Given the description of an element on the screen output the (x, y) to click on. 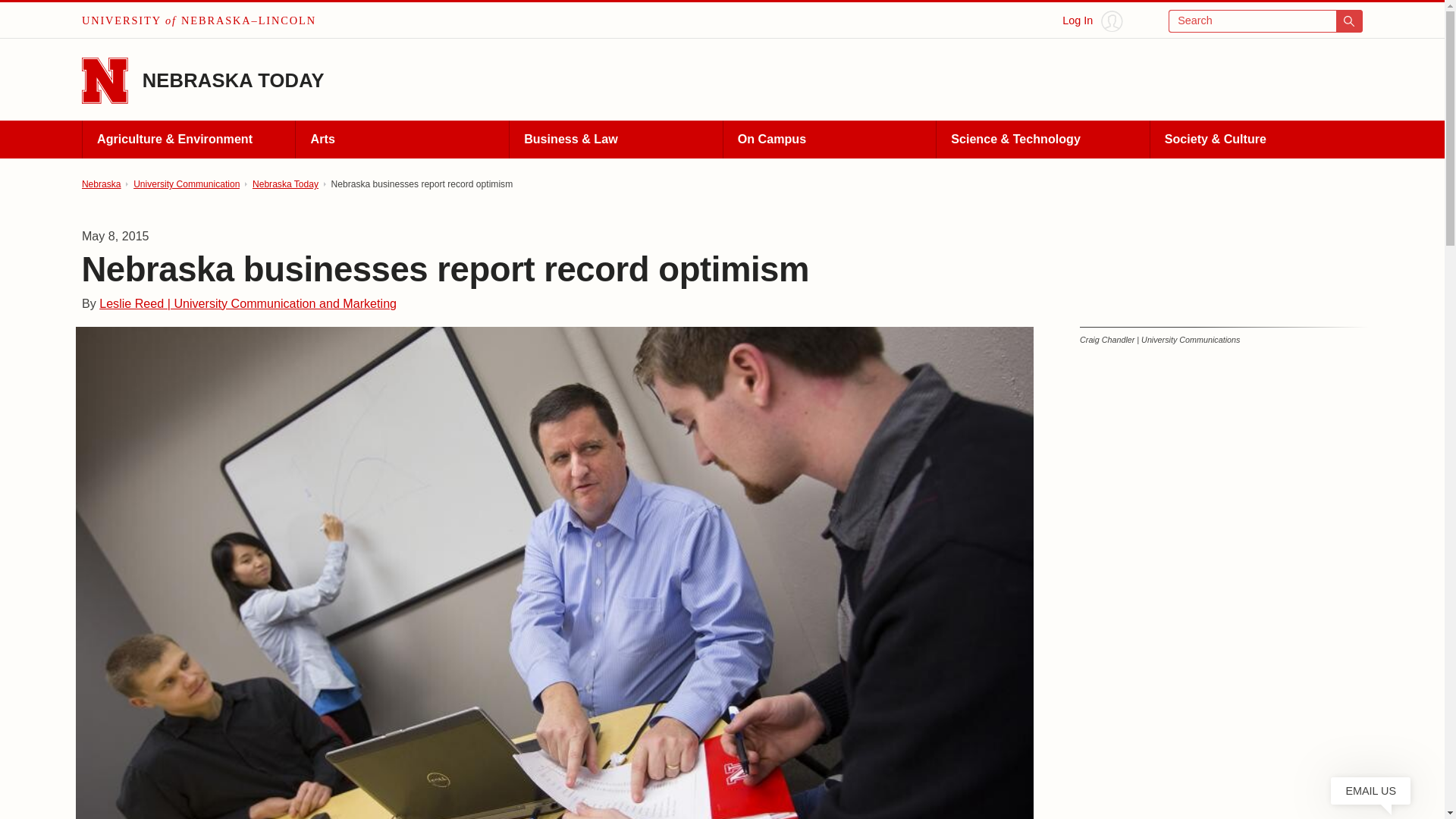
NEBRASKA TODAY (233, 79)
Arts (401, 139)
Nebraska Today (284, 183)
Skip to main content (19, 16)
Log In (1092, 21)
Search (1265, 21)
University Communication (186, 183)
Nebraska (100, 183)
On Campus (829, 139)
